Given the description of an element on the screen output the (x, y) to click on. 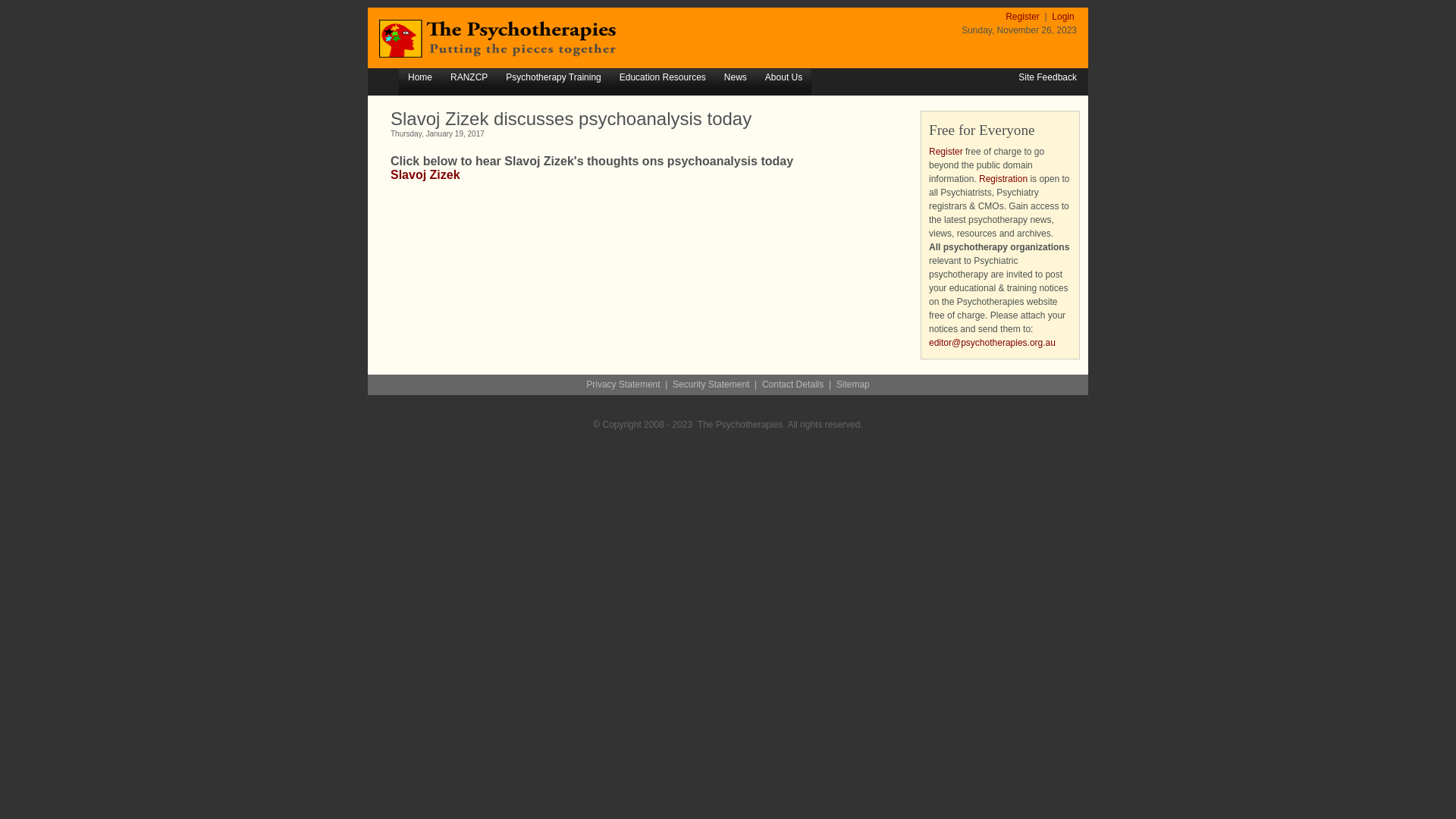
About Us Element type: text (783, 78)
Site Feedback Element type: text (1047, 77)
Home Element type: text (419, 78)
editor@psychotherapies.org.au Element type: text (991, 342)
Register Element type: text (945, 151)
Education Resources Element type: text (662, 78)
Sitemap Element type: text (852, 384)
Privacy Statement Element type: text (622, 384)
Slavoj Zizek Element type: text (425, 174)
Security Statement Element type: text (710, 384)
Login Element type: text (1062, 16)
Register Element type: text (1023, 16)
News Element type: text (735, 78)
Contact Details Element type: text (792, 384)
RANZCP Element type: text (468, 78)
Psychotherapy Training Element type: text (552, 78)
Registration Element type: text (1003, 178)
